Given the description of an element on the screen output the (x, y) to click on. 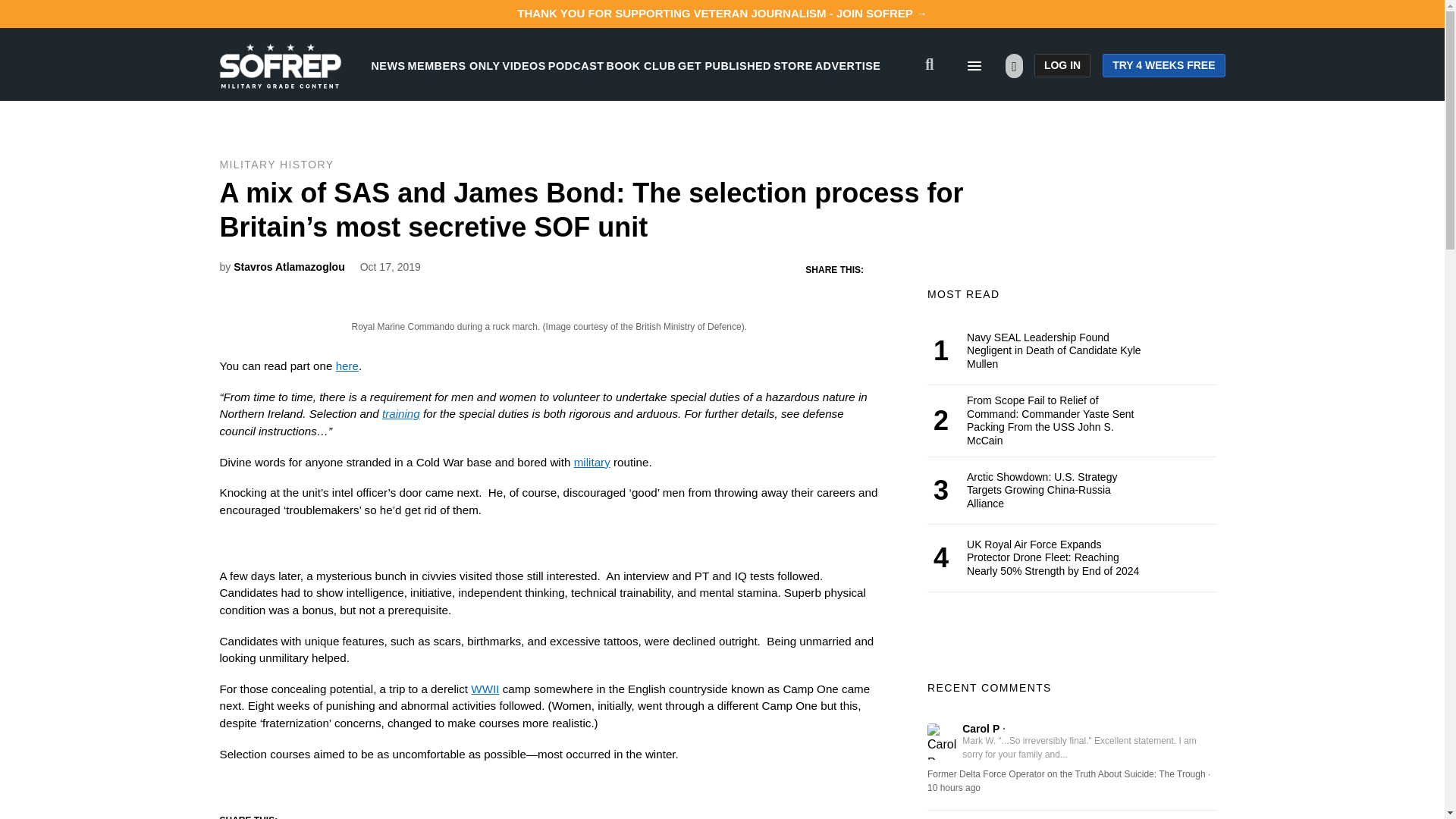
STORE (792, 65)
LOG IN (1061, 65)
VIDEOS (524, 65)
MEMBERS ONLY (453, 65)
BOOK CLUB (641, 65)
ADVERTISE (847, 65)
PODCAST (576, 65)
TRY 4 WEEKS FREE (1163, 65)
NEWS (388, 65)
GET PUBLISHED (724, 65)
